Given the description of an element on the screen output the (x, y) to click on. 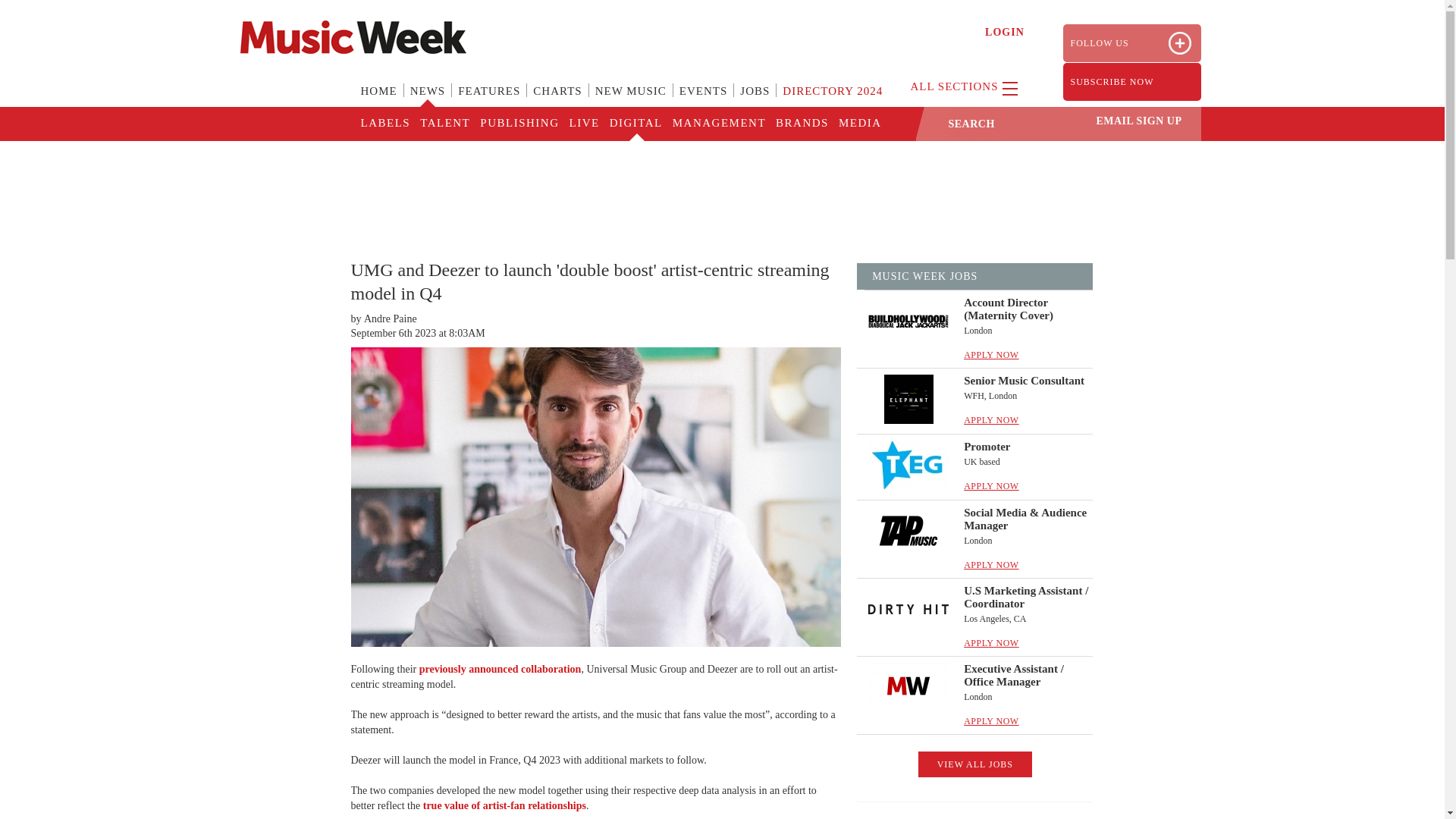
3rd party ad content (721, 190)
LOGIN (1005, 31)
MANAGEMENT (718, 123)
HOME (379, 100)
MEDIA (858, 123)
TALENT (443, 123)
LABELS (384, 123)
LIVE (582, 123)
NEWS (427, 100)
CHARTS (557, 100)
FEATURES (488, 100)
DIGITAL (635, 123)
BRANDS (801, 123)
